Given the description of an element on the screen output the (x, y) to click on. 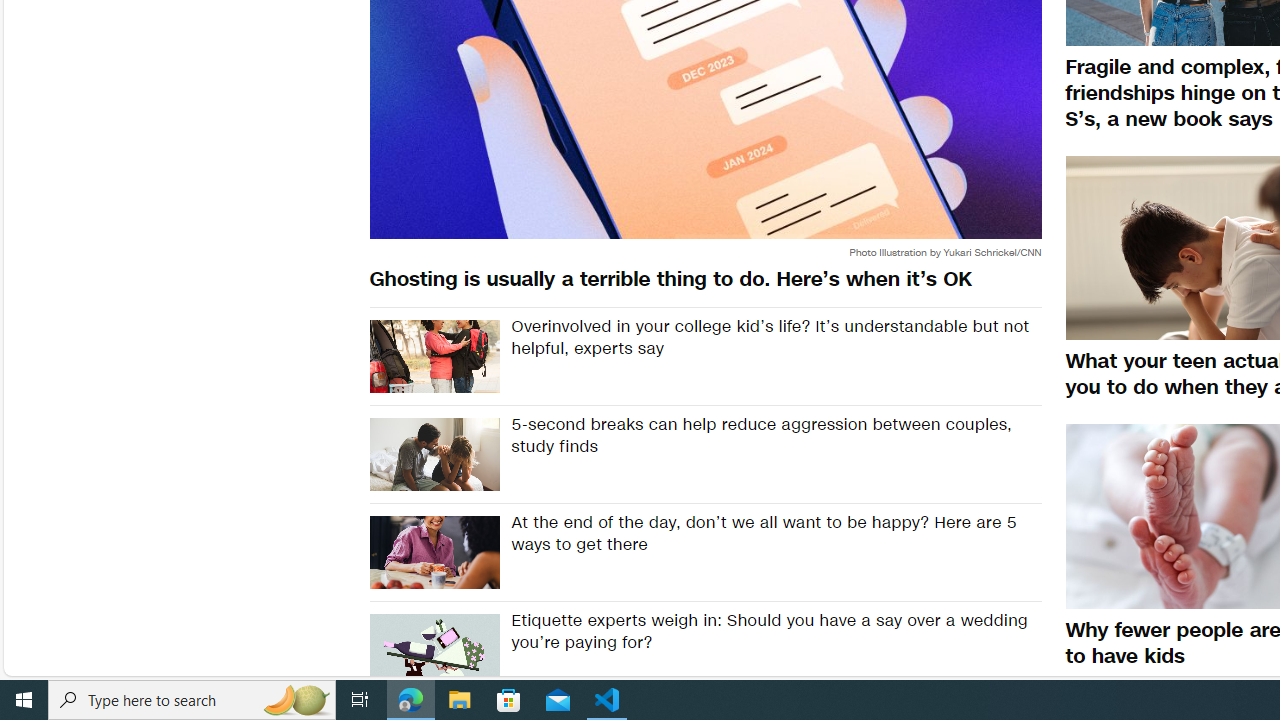
Wellness Wedding Etiquette.png (434, 651)
Wellness Wedding Etiquette.png (434, 651)
GettyImages-1145156502.jpg (434, 454)
GettyImages-1145156502.jpg (434, 454)
